Given the description of an element on the screen output the (x, y) to click on. 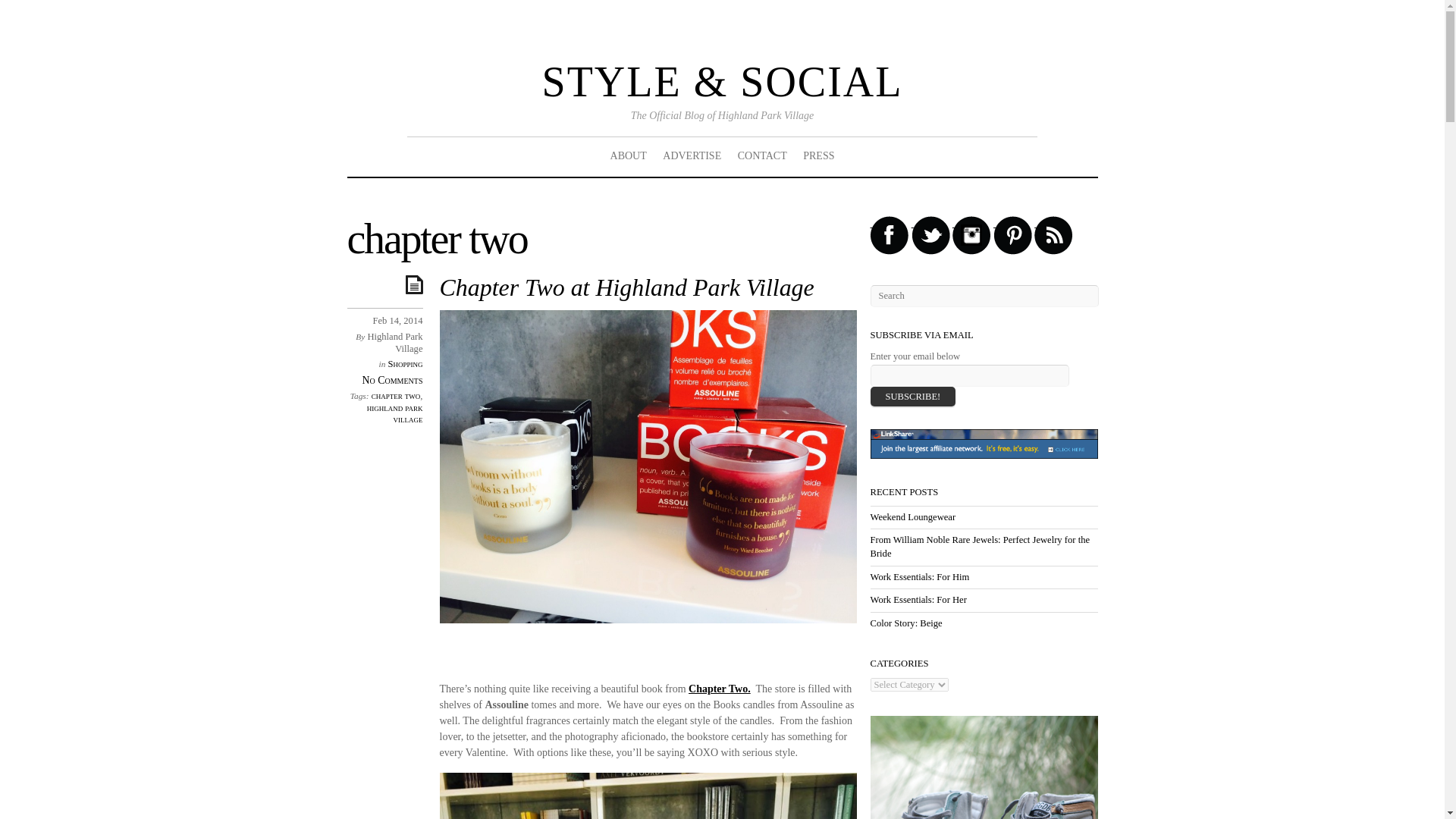
chapter two (395, 395)
PRESS (818, 155)
Subscribe! (913, 396)
Weekend Loungewear (913, 516)
ABOUT (628, 155)
No Comments (392, 379)
Shopping (404, 363)
Chapter Two. (719, 688)
highland park village (394, 413)
CONTACT (761, 155)
